Given the description of an element on the screen output the (x, y) to click on. 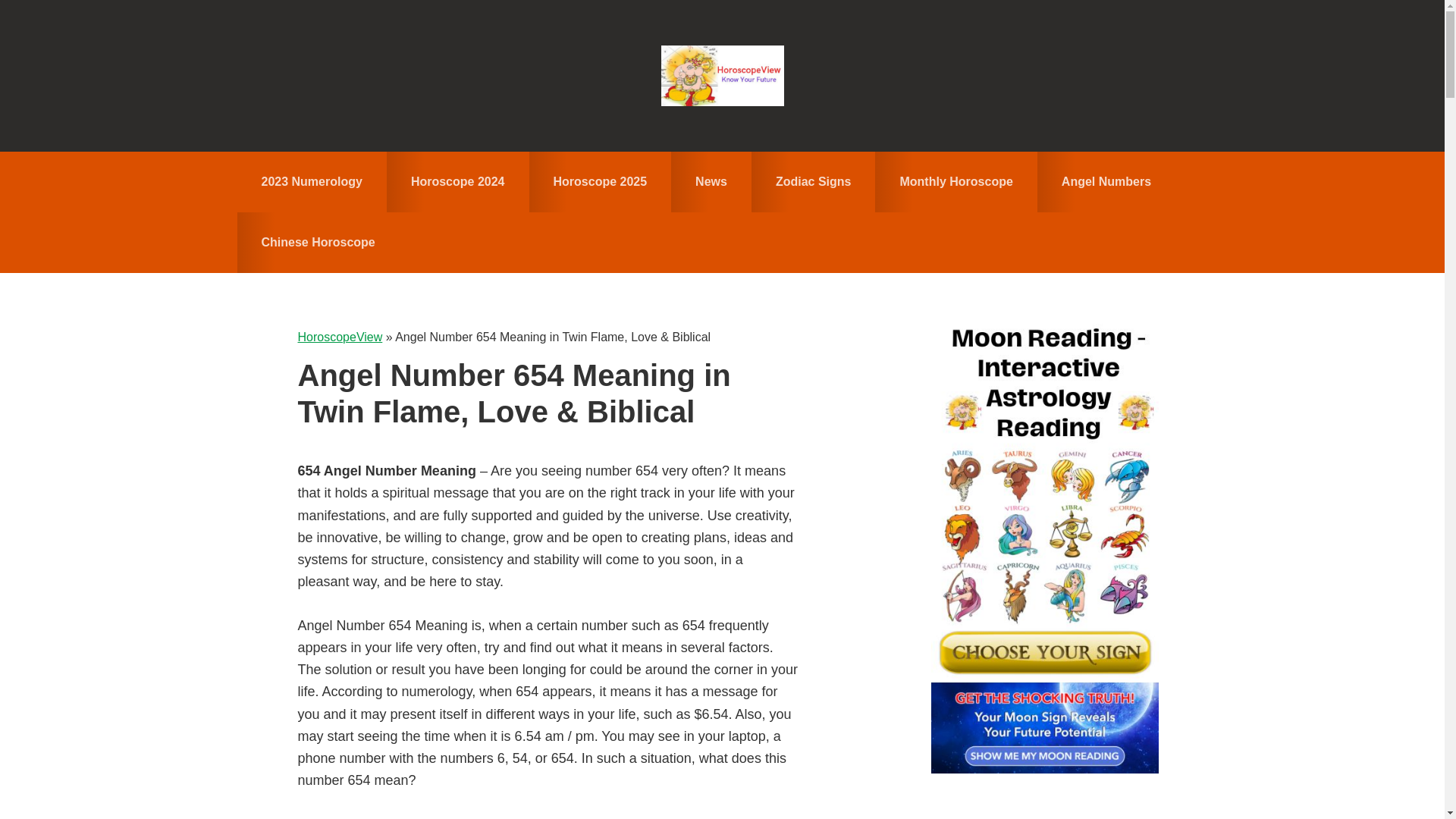
Horoscope 2025 (600, 181)
HoroscopeView (722, 75)
Zodiac Signs (813, 181)
Chinese Horoscope (316, 242)
2023 Numerology (310, 181)
HoroscopeView (339, 336)
News (711, 181)
Monthly Horoscope (955, 181)
Angel Numbers (1105, 181)
